Given the description of an element on the screen output the (x, y) to click on. 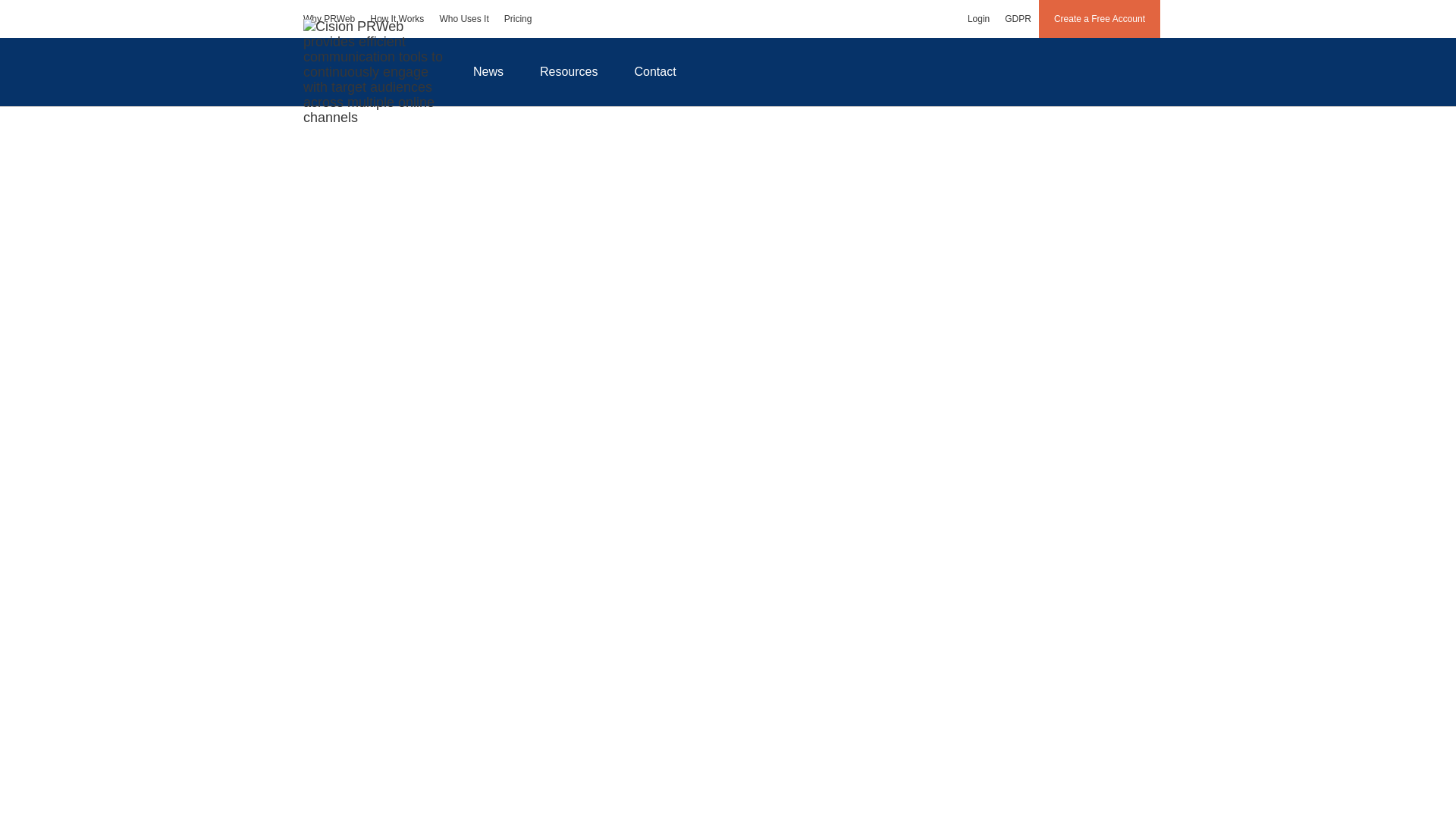
Who Uses It (463, 18)
GDPR (1018, 18)
Login (978, 18)
Contact (654, 71)
Resources (568, 71)
Create a Free Account (1099, 18)
Why PRWeb (328, 18)
How It Works (396, 18)
News (487, 71)
Pricing (518, 18)
